Given the description of an element on the screen output the (x, y) to click on. 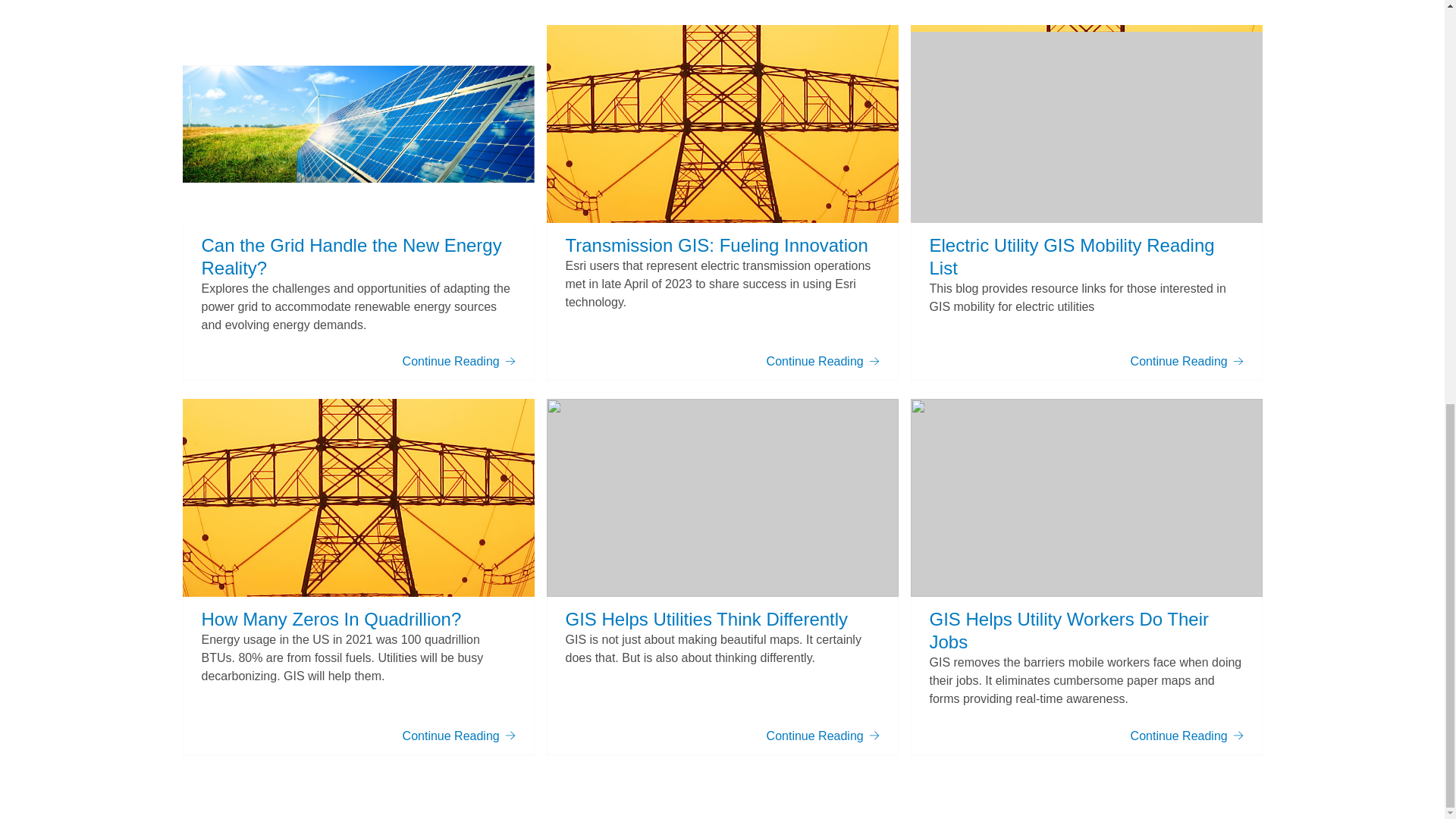
Continue Reading (459, 735)
Transmission GIS: Fueling Innovation (716, 245)
Continue Reading (823, 360)
Continue Reading (459, 360)
GIS Helps Utilities Think Differently (707, 619)
GIS Helps Utility Workers Do Their Jobs (1069, 630)
Continue Reading (1187, 735)
Continue Reading (823, 735)
Electric Utility GIS Mobility Reading List (1072, 256)
How Many Zeros In Quadrillion? (331, 619)
